Given the description of an element on the screen output the (x, y) to click on. 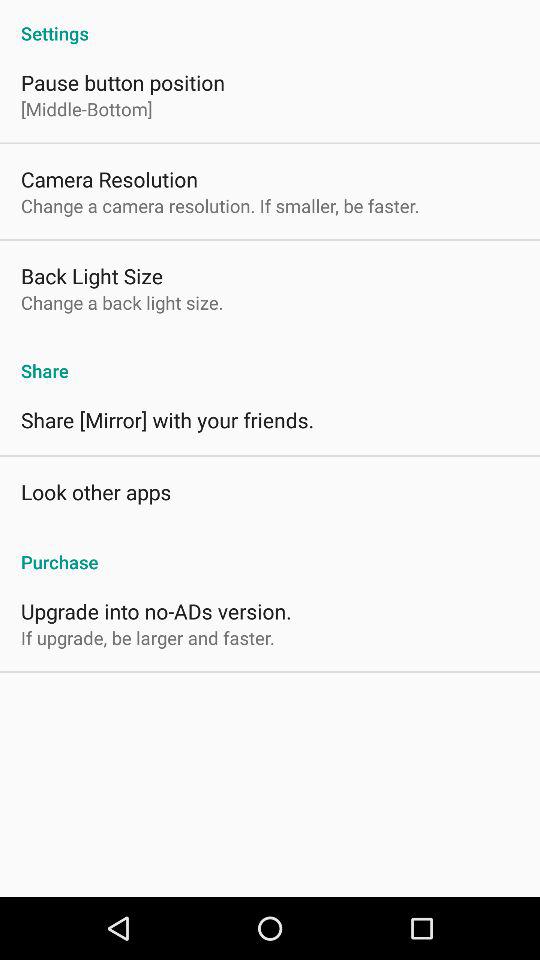
swipe until the purchase (270, 551)
